Given the description of an element on the screen output the (x, y) to click on. 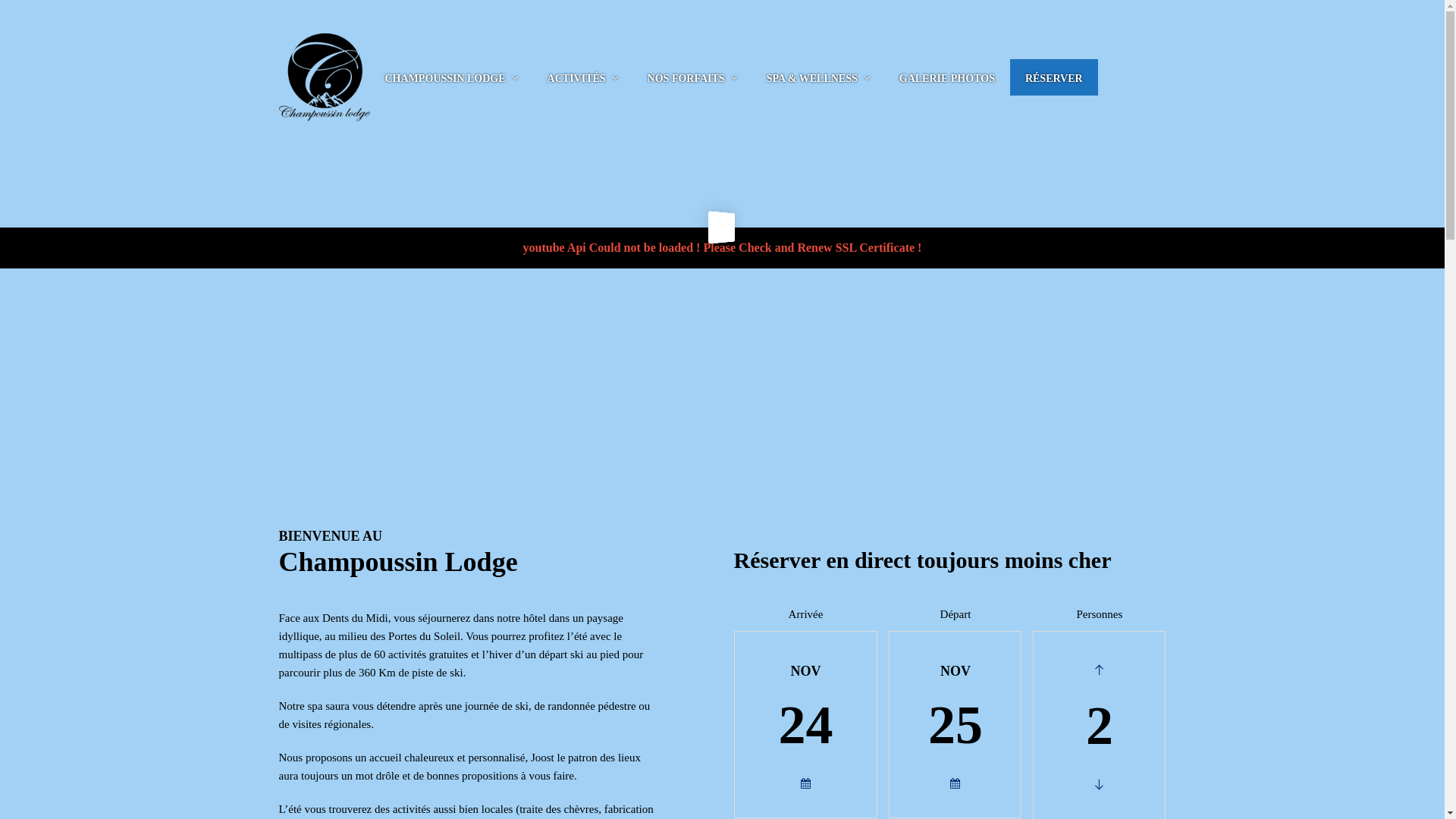
NOS FORFAITS Element type: text (686, 77)
SPA & WELLNESS Element type: text (811, 77)
CHAMPOUSSIN LODGE Element type: text (445, 77)
GALERIE PHOTOS Element type: text (947, 77)
Champoussin Lodge - Champoussin Lodge Element type: hover (324, 77)
